Given the description of an element on the screen output the (x, y) to click on. 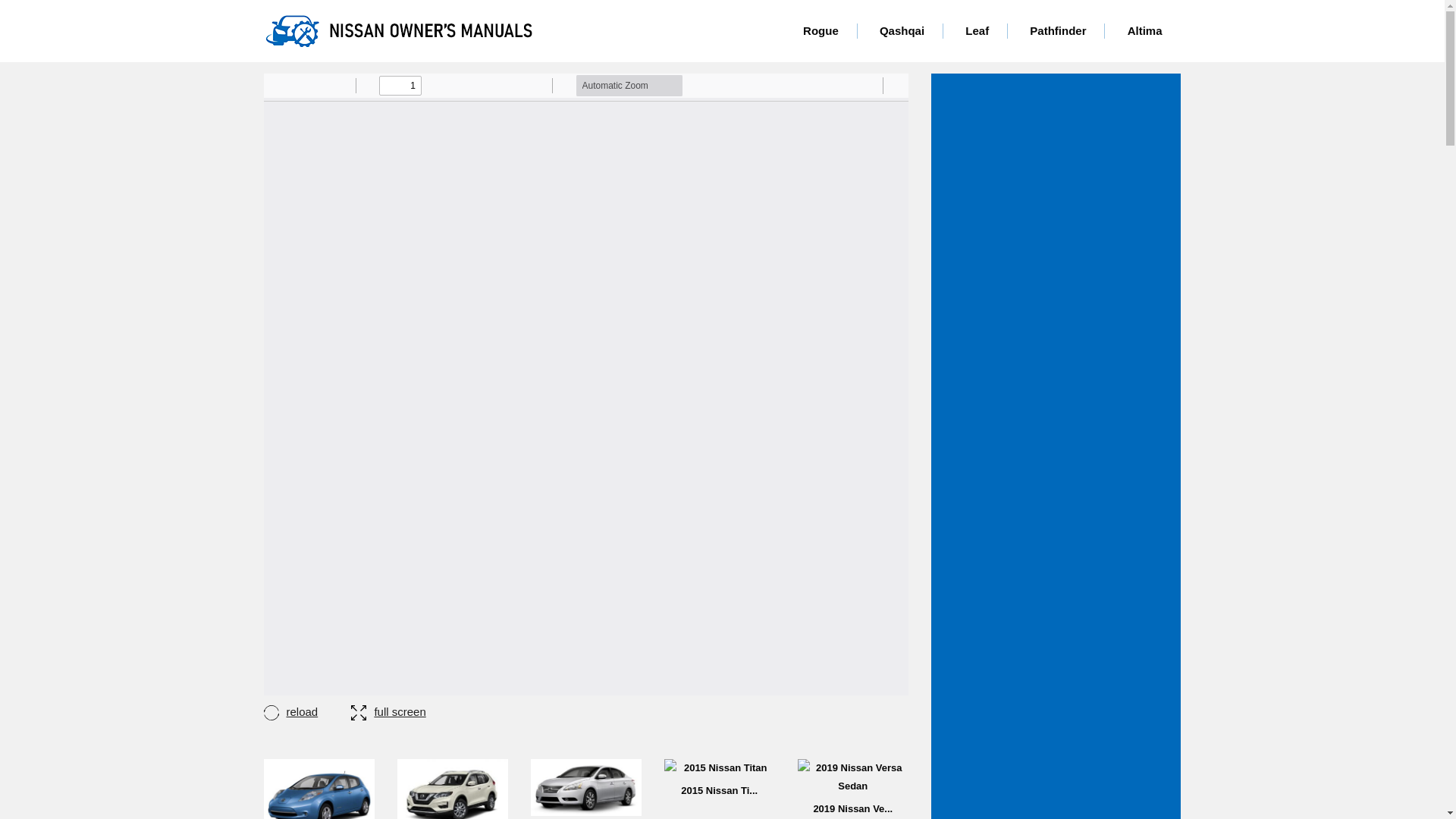
2008 Nissan Se... (586, 789)
Qashqai (901, 30)
2021 Nissan Rogue (452, 789)
2015 Nissan Titan (718, 777)
2008 Nissan Sentra (586, 787)
Leaf (976, 30)
2015 Nissan Titan (718, 768)
2012 Nissan Leaf (318, 789)
2021 Nissan Rogue (452, 789)
Rogue (820, 30)
